Given the description of an element on the screen output the (x, y) to click on. 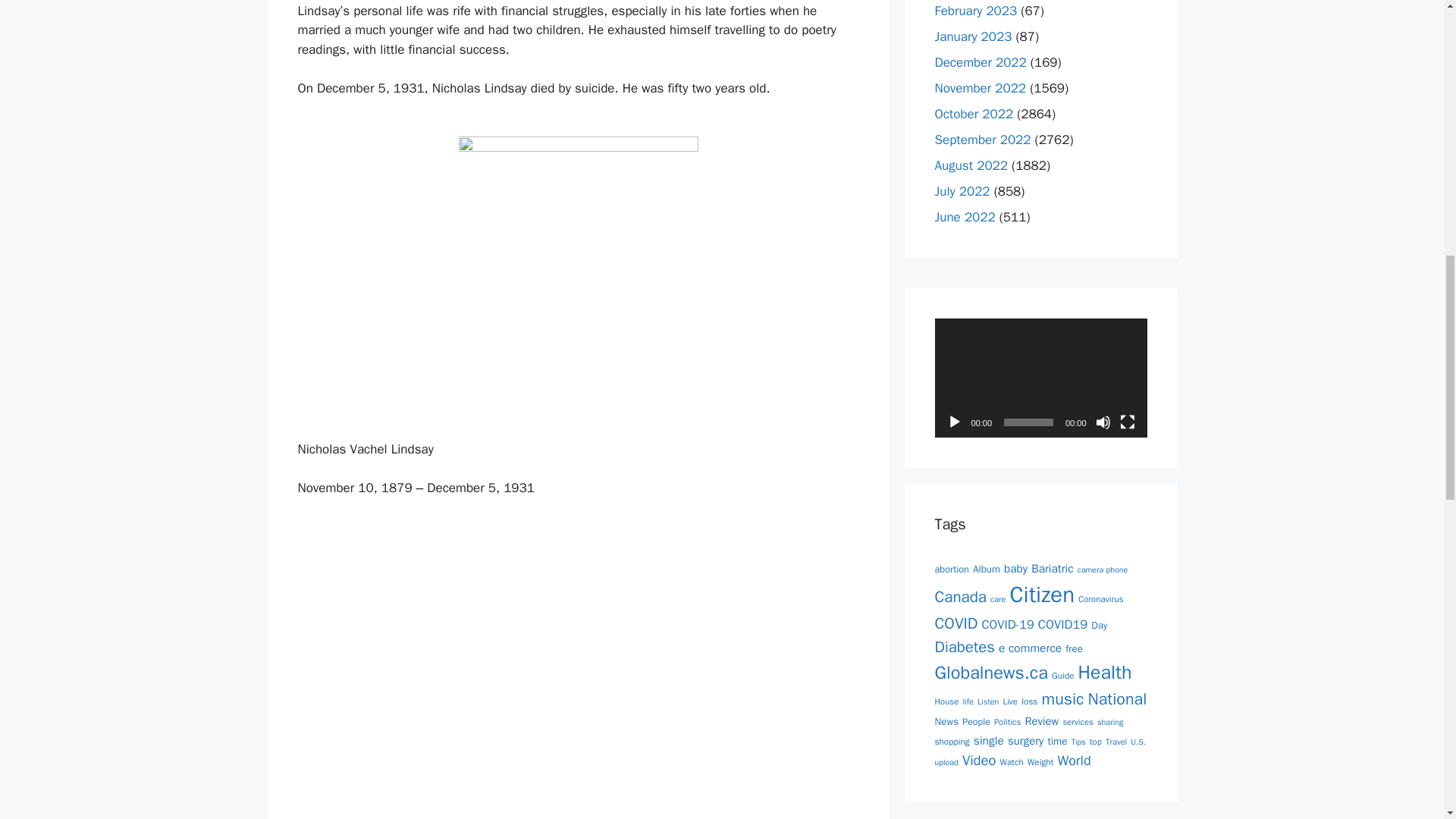
Fullscreen (1126, 421)
January 2023 (972, 36)
October 2022 (973, 114)
Mute (1101, 421)
Play (953, 421)
November 2022 (980, 88)
February 2023 (975, 10)
December 2022 (980, 62)
